Given the description of an element on the screen output the (x, y) to click on. 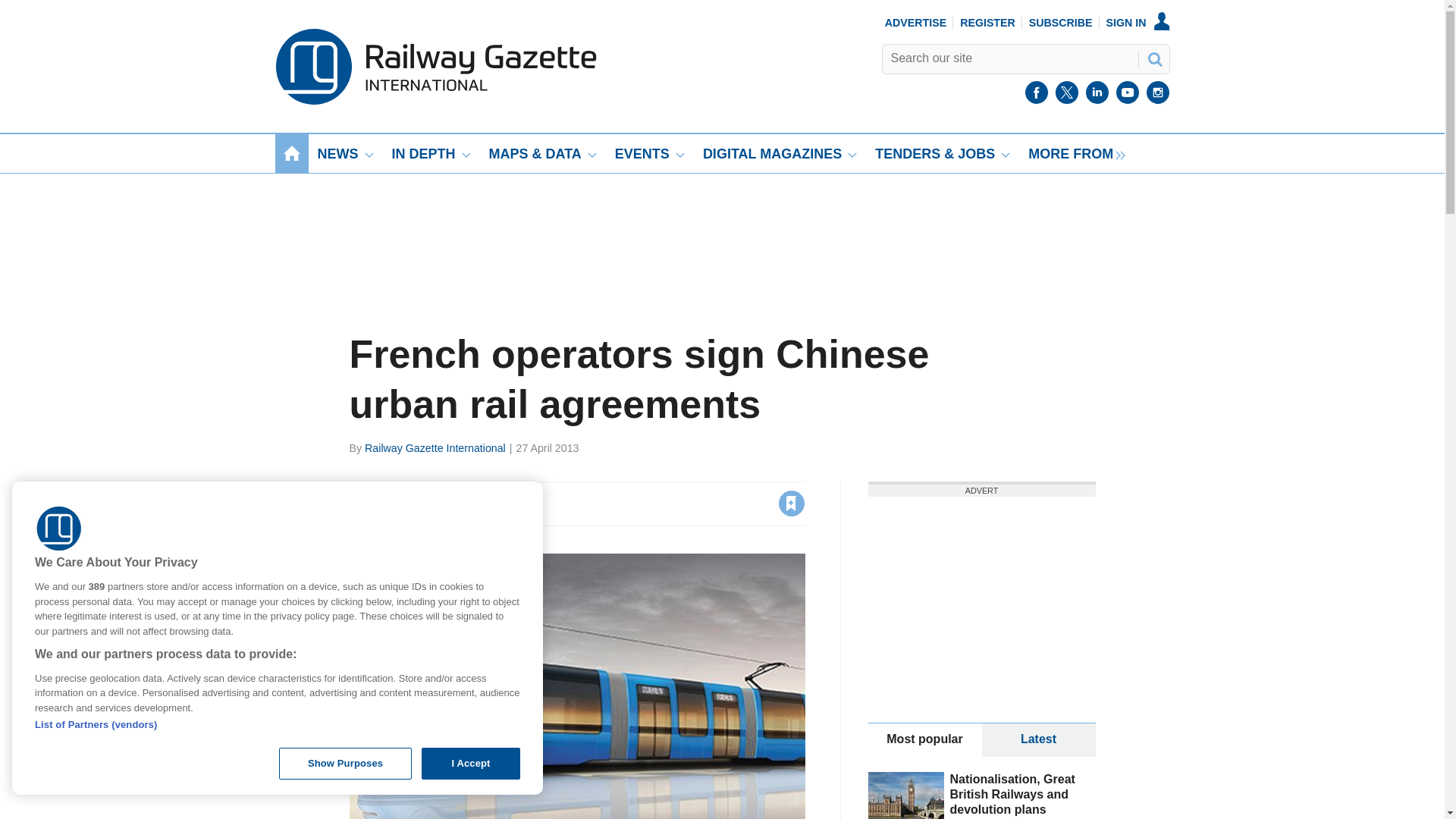
Share this on Facebook (362, 502)
SEARCH (1153, 58)
Share this on Twitter (395, 502)
SUBSCRIBE (1061, 22)
SIGN IN (1138, 22)
3rd party ad content (980, 590)
ADVERTISE (915, 22)
3rd party ad content (721, 226)
Email this article (460, 502)
Railway Gazette (435, 101)
